Given the description of an element on the screen output the (x, y) to click on. 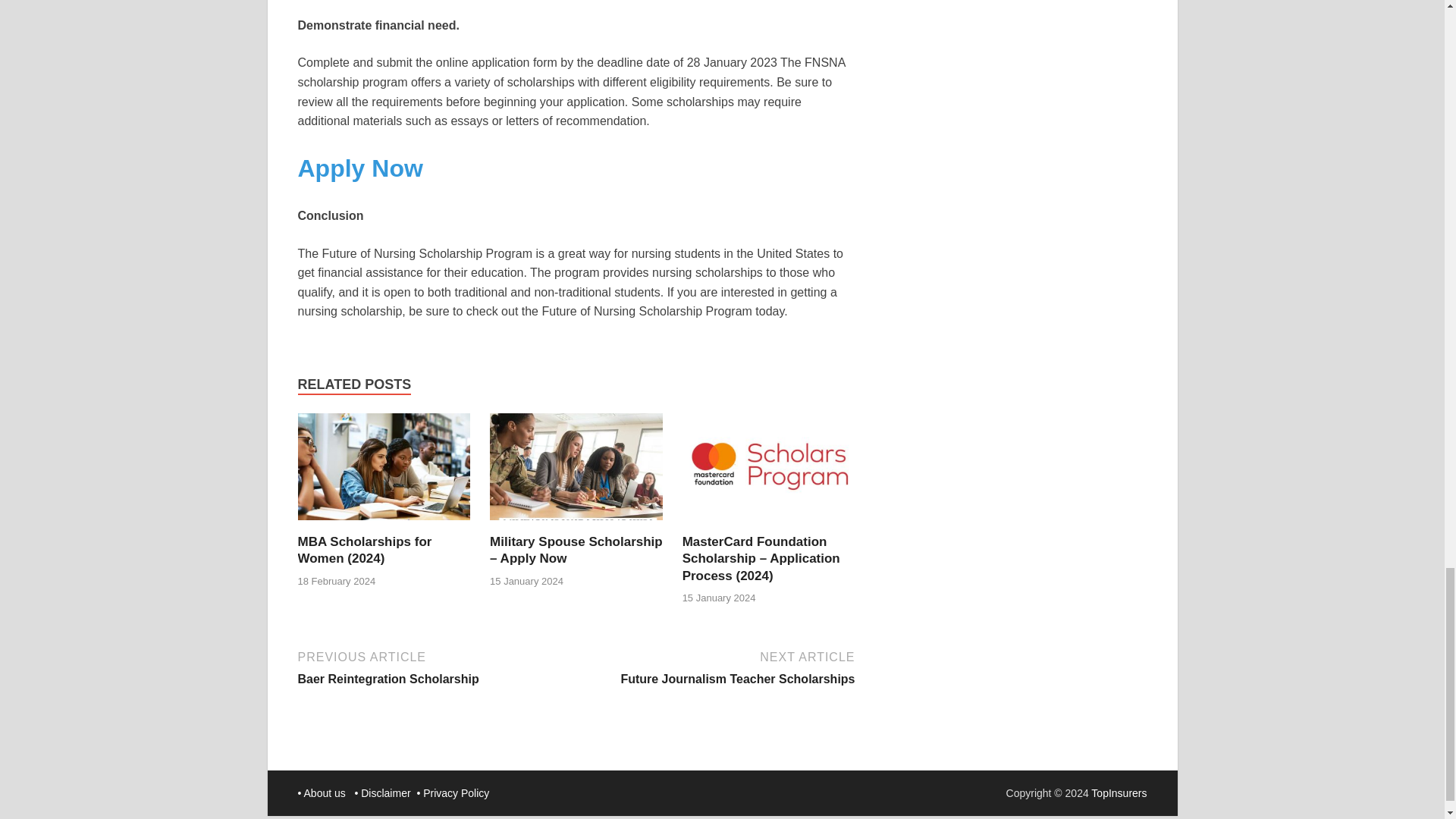
Apply Now (359, 167)
TopInsurers (1118, 793)
